Given the description of an element on the screen output the (x, y) to click on. 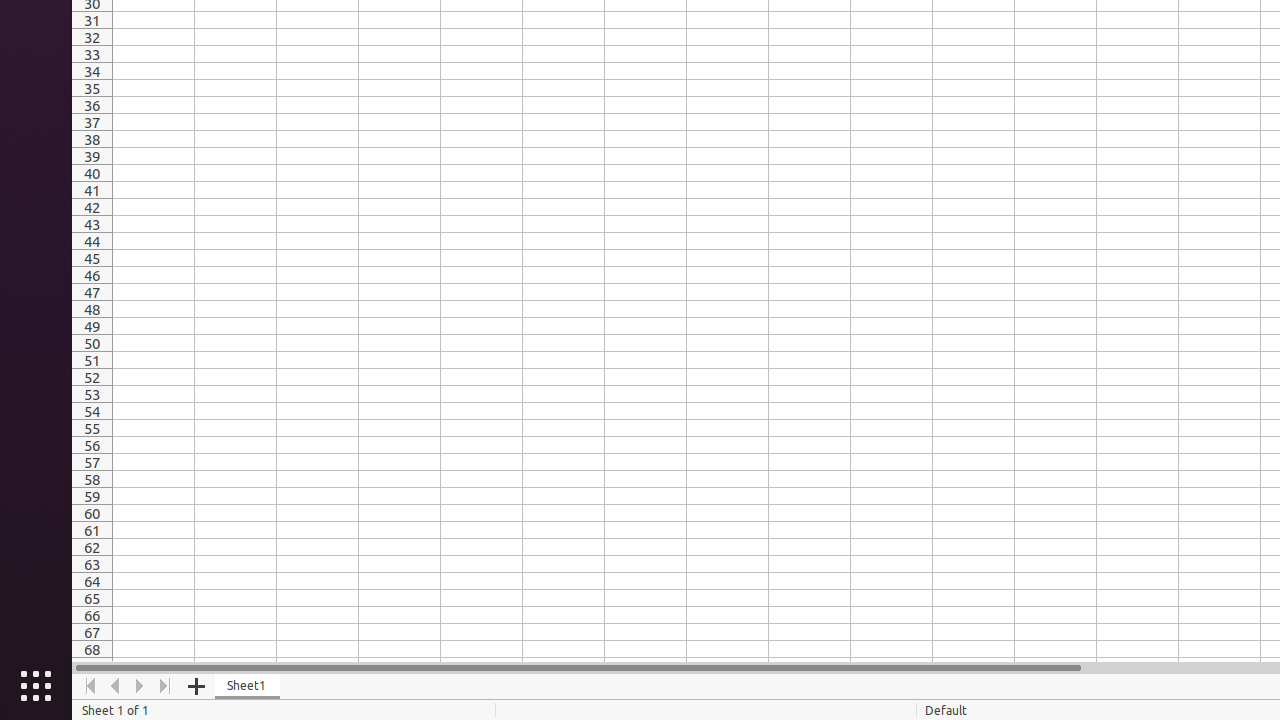
Sheet1 Element type: page-tab (247, 686)
Move Right Element type: push-button (140, 686)
Show Applications Element type: toggle-button (36, 686)
Move To Home Element type: push-button (90, 686)
Move To End Element type: push-button (165, 686)
